Given the description of an element on the screen output the (x, y) to click on. 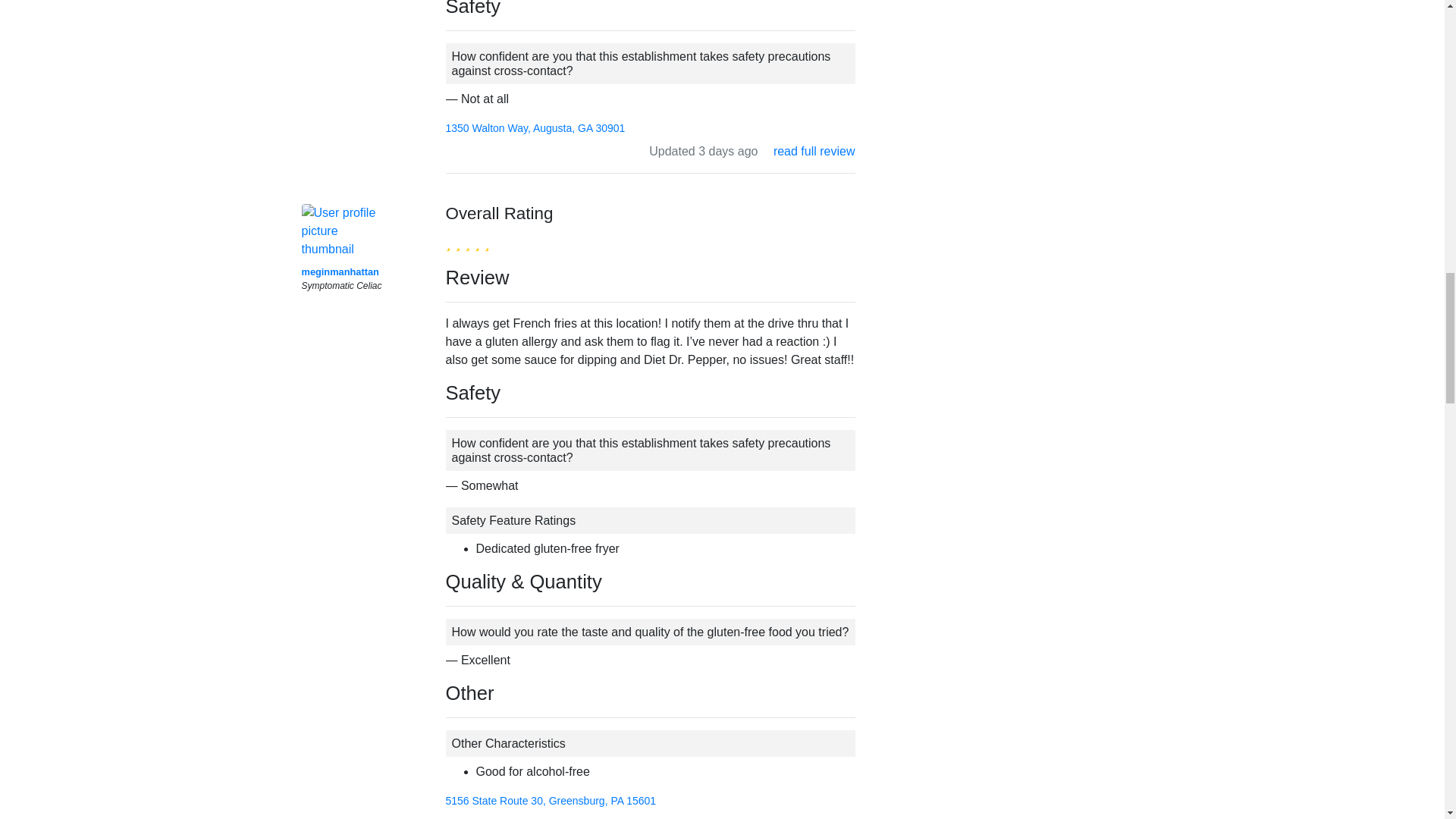
read full review (814, 151)
1350 Walton Way, Augusta, GA 30901 (535, 128)
read full review (814, 818)
meginmanhattan (339, 271)
5156 State Route 30, Greensburg, PA 15601 (550, 800)
5 star rating (467, 241)
